Given the description of an element on the screen output the (x, y) to click on. 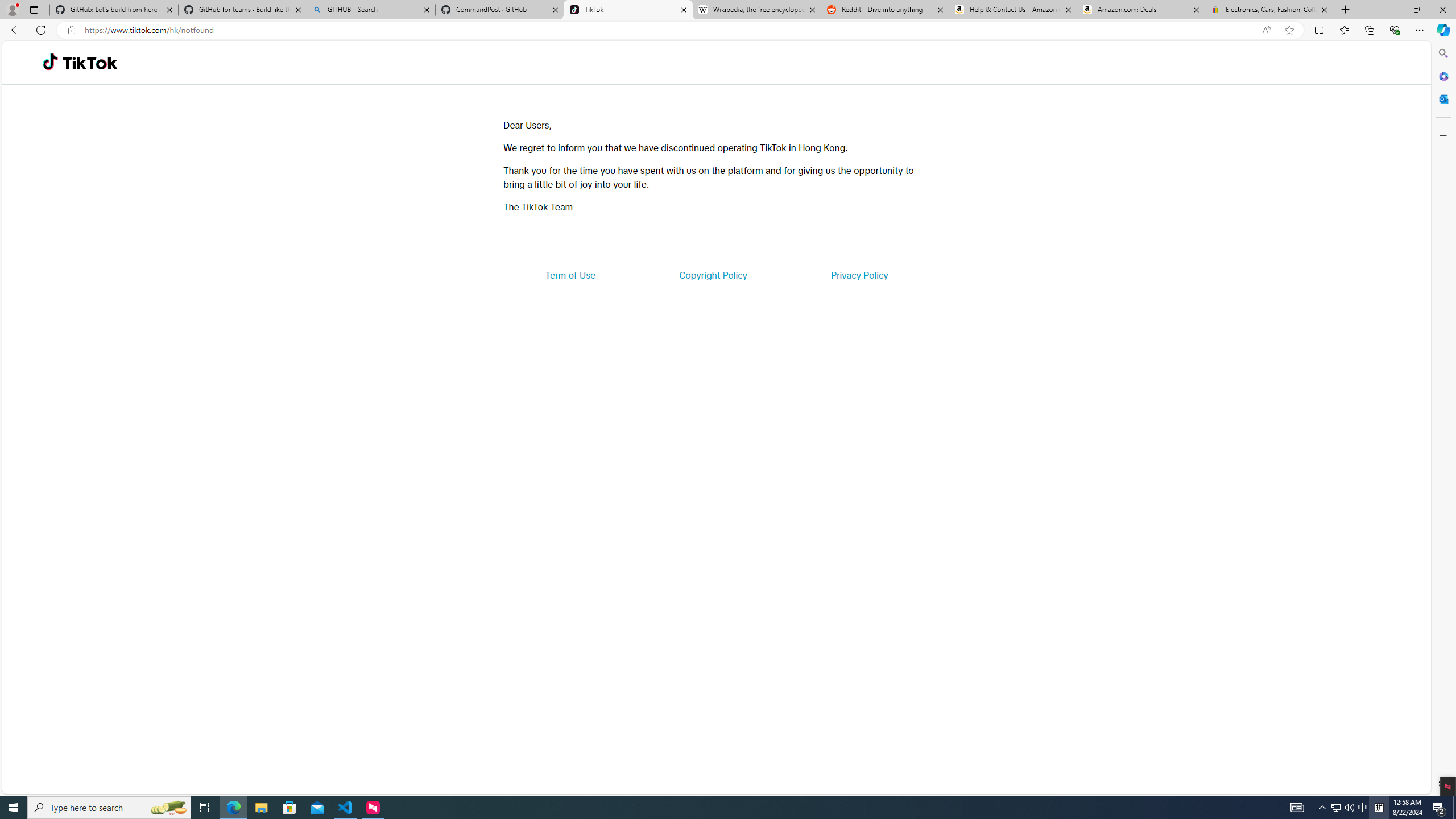
TikTok (89, 62)
Help & Contact Us - Amazon Customer Service (1012, 9)
Wikipedia, the free encyclopedia (756, 9)
Copyright Policy (712, 274)
